Given the description of an element on the screen output the (x, y) to click on. 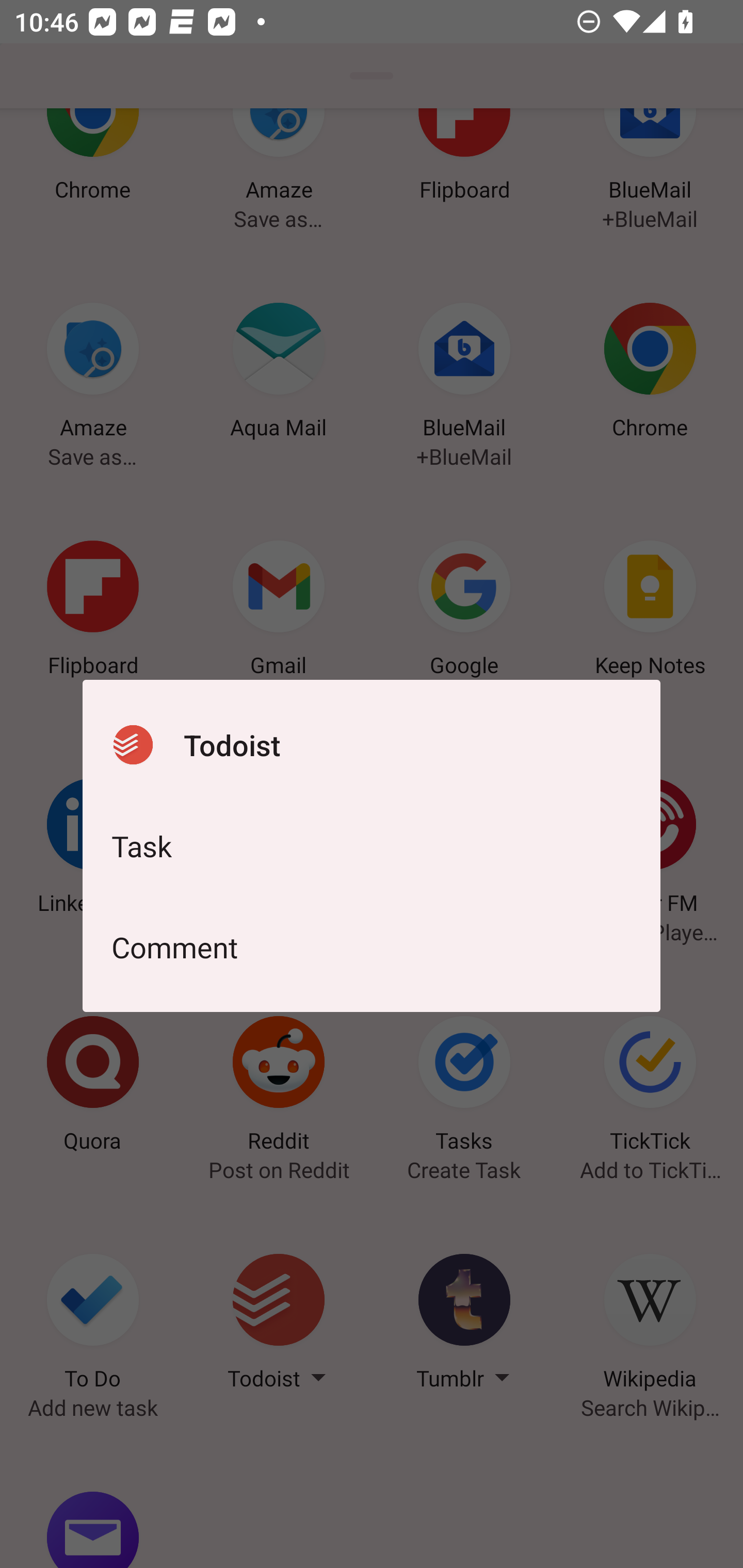
Task (371, 845)
Comment (371, 946)
